Given the description of an element on the screen output the (x, y) to click on. 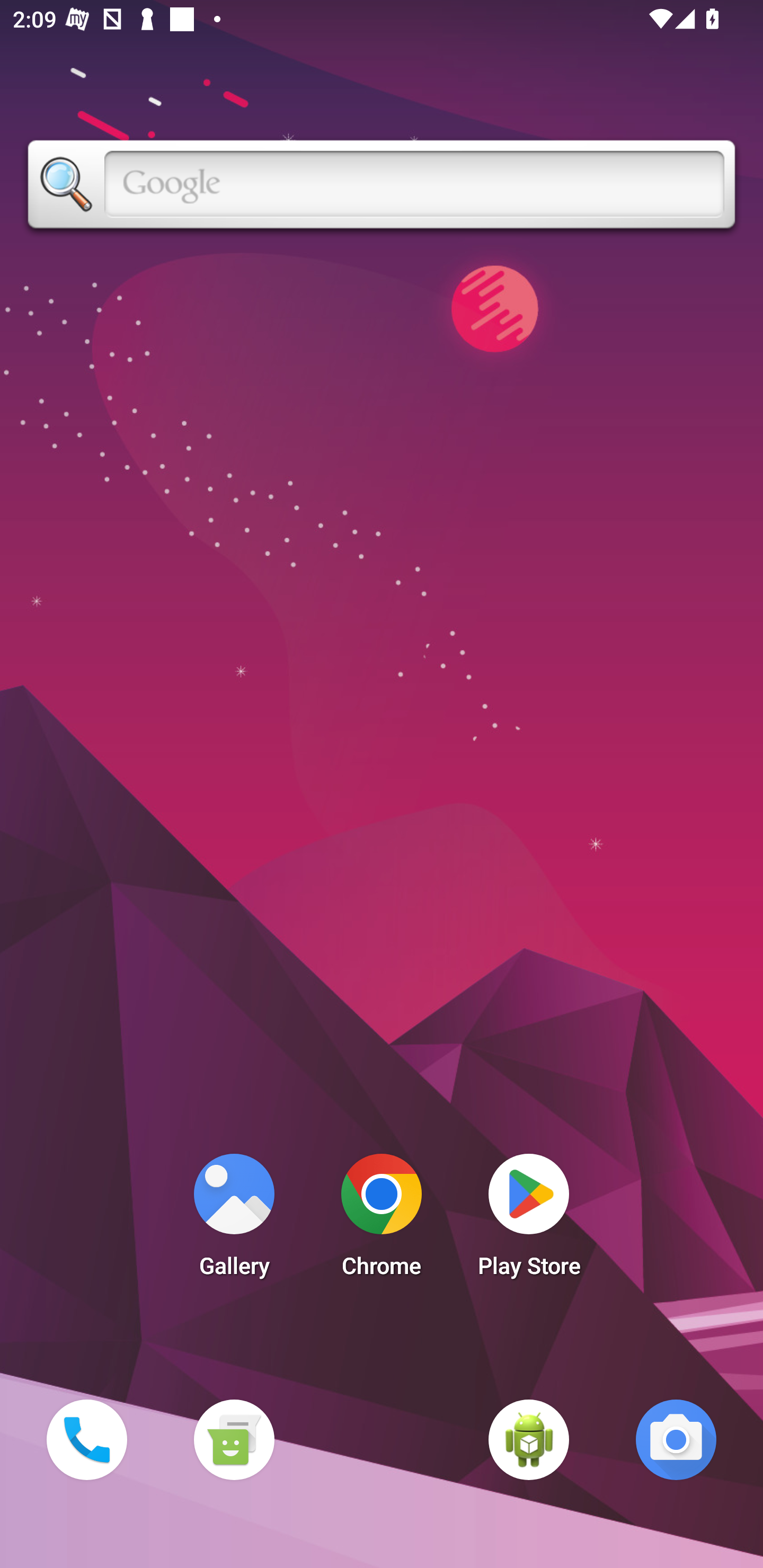
Gallery (233, 1220)
Chrome (381, 1220)
Play Store (528, 1220)
Phone (86, 1439)
Messaging (233, 1439)
WebView Browser Tester (528, 1439)
Camera (676, 1439)
